Given the description of an element on the screen output the (x, y) to click on. 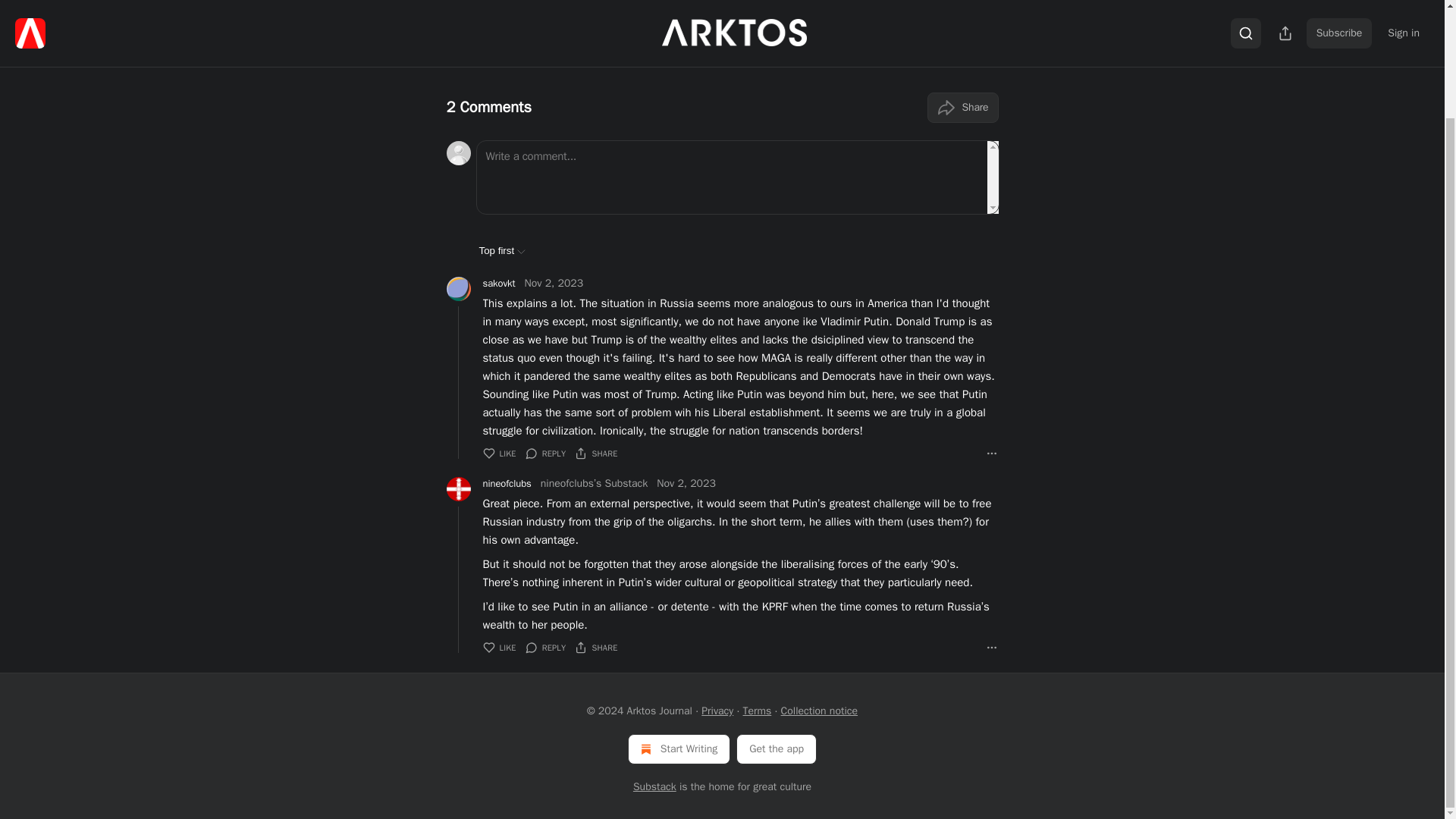
Nov 2, 2023 (686, 483)
Nov 2, 2023 (553, 283)
Share (962, 107)
2023-10-30T17:30:17.797Z (561, 2)
Top first (502, 250)
nineofclubs (506, 483)
LIKE (498, 453)
sakovkt (498, 283)
SHARE (596, 453)
REPLY (545, 453)
LIKE (498, 647)
REPLY (545, 647)
2 (641, 2)
ARKTOS JOURNAL (483, 2)
9 (611, 2)
